Given the description of an element on the screen output the (x, y) to click on. 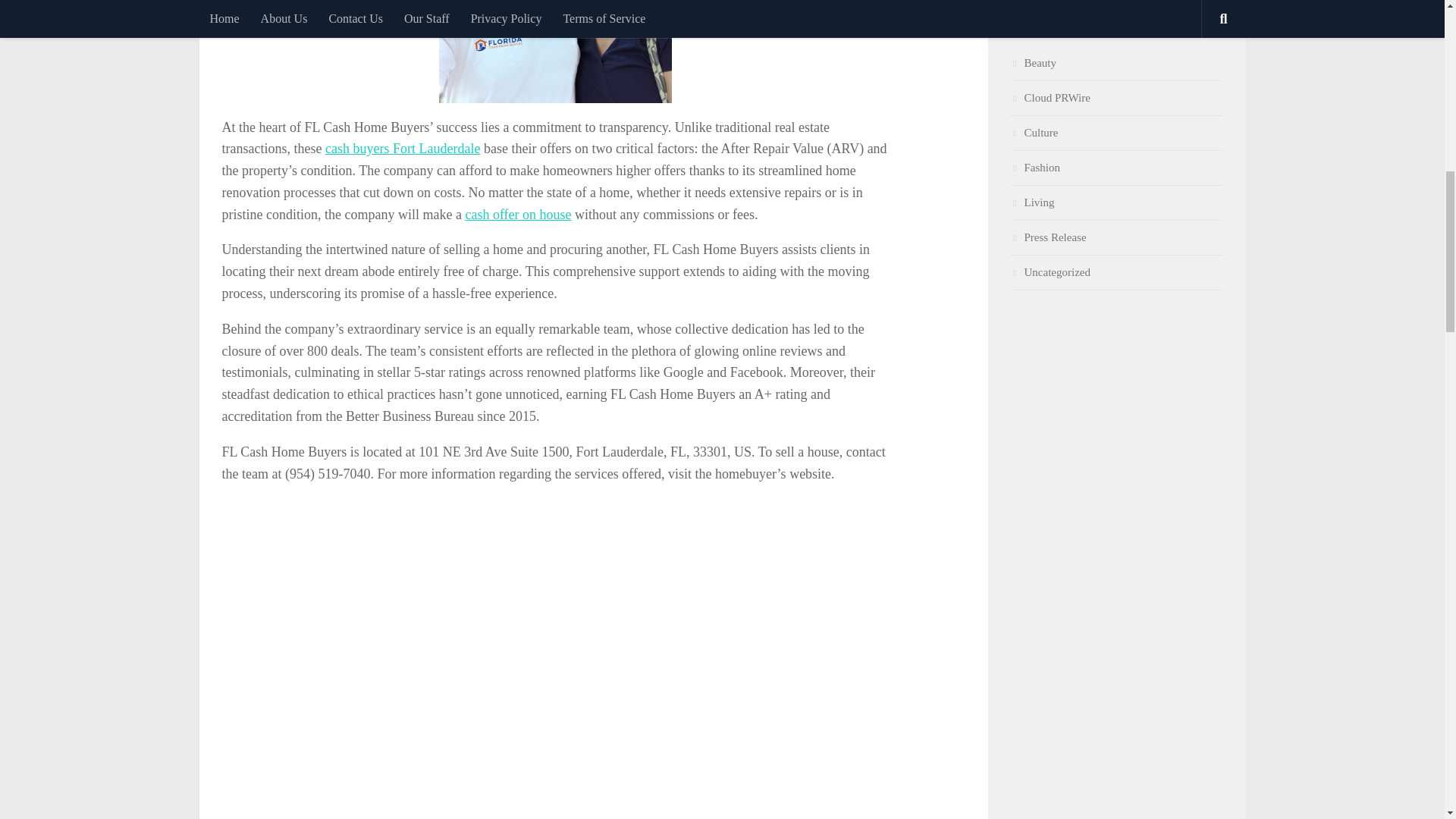
cash buyers Fort Lauderdale (402, 148)
cash offer on house (517, 214)
